Given the description of an element on the screen output the (x, y) to click on. 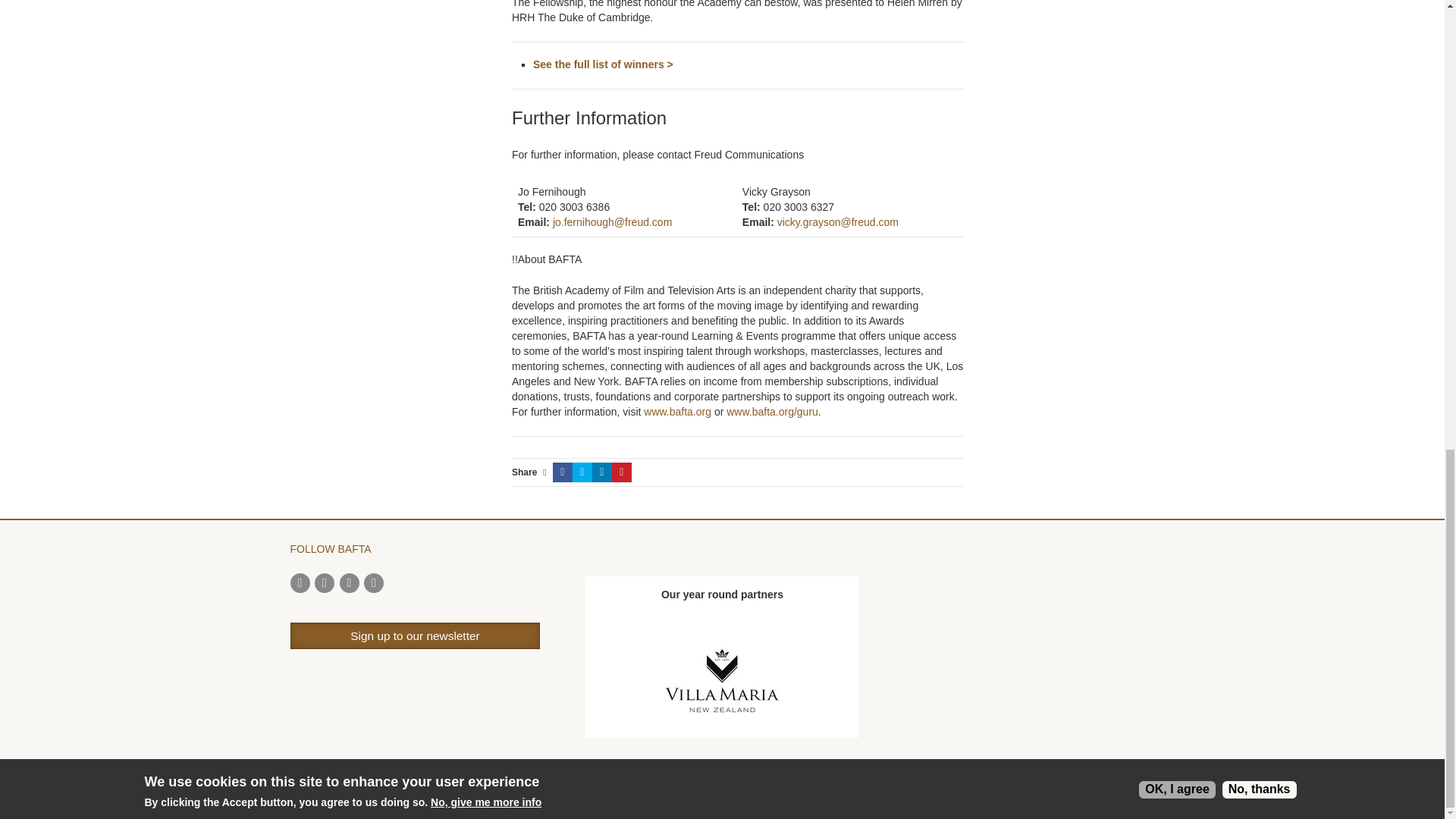
Villa Maria: BAFTA partner (721, 682)
Share on LinkedIn (601, 472)
Share on Twitter (582, 472)
Share on Pinterest (621, 472)
Share on Facebook (562, 472)
